Given the description of an element on the screen output the (x, y) to click on. 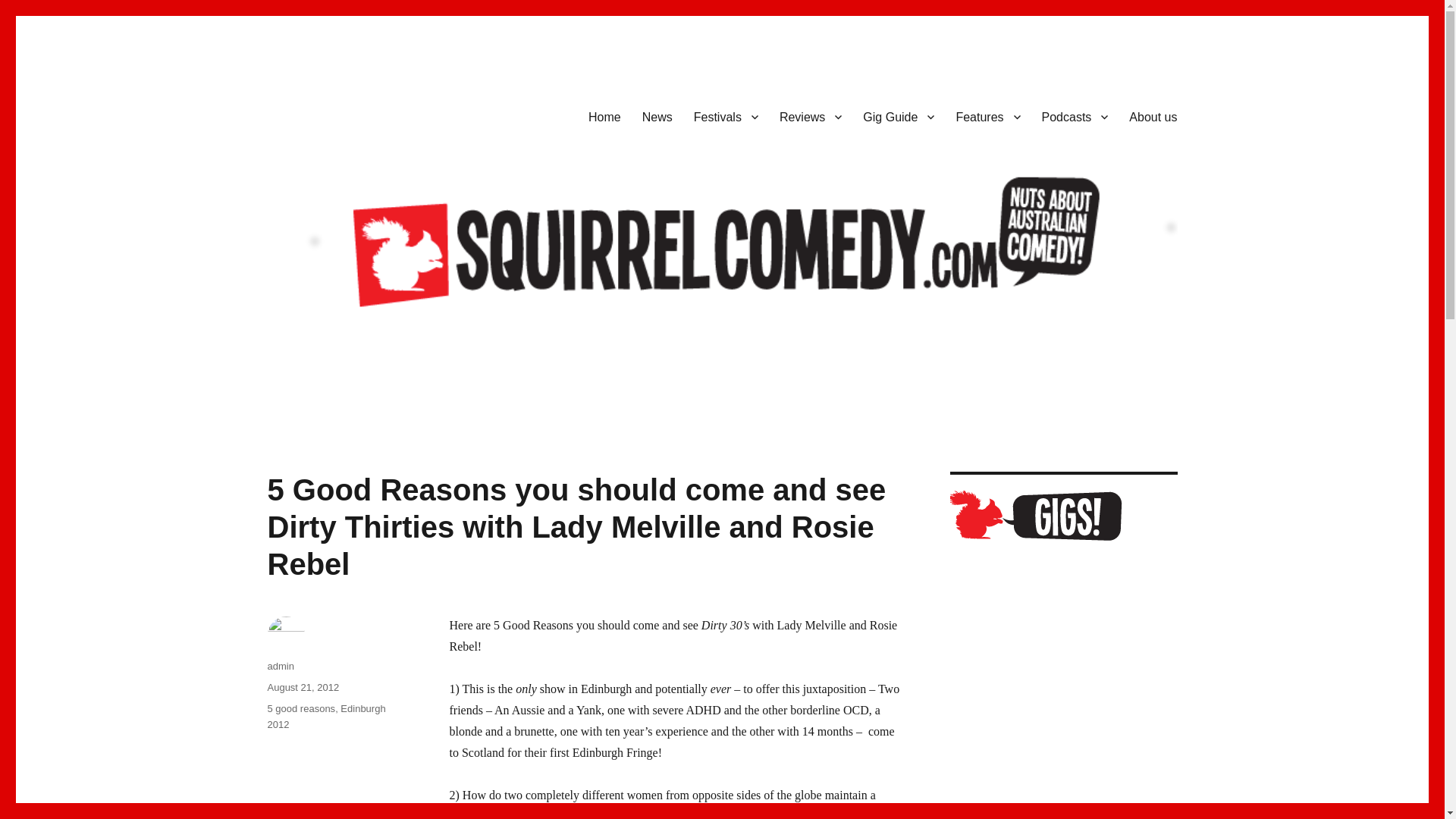
Reviews (809, 116)
Squirrel Comedy (351, 114)
Features (987, 116)
News (656, 116)
Festivals (725, 116)
Podcasts (1074, 116)
Gig Guide (897, 116)
About us (1153, 116)
Home (604, 116)
